Given the description of an element on the screen output the (x, y) to click on. 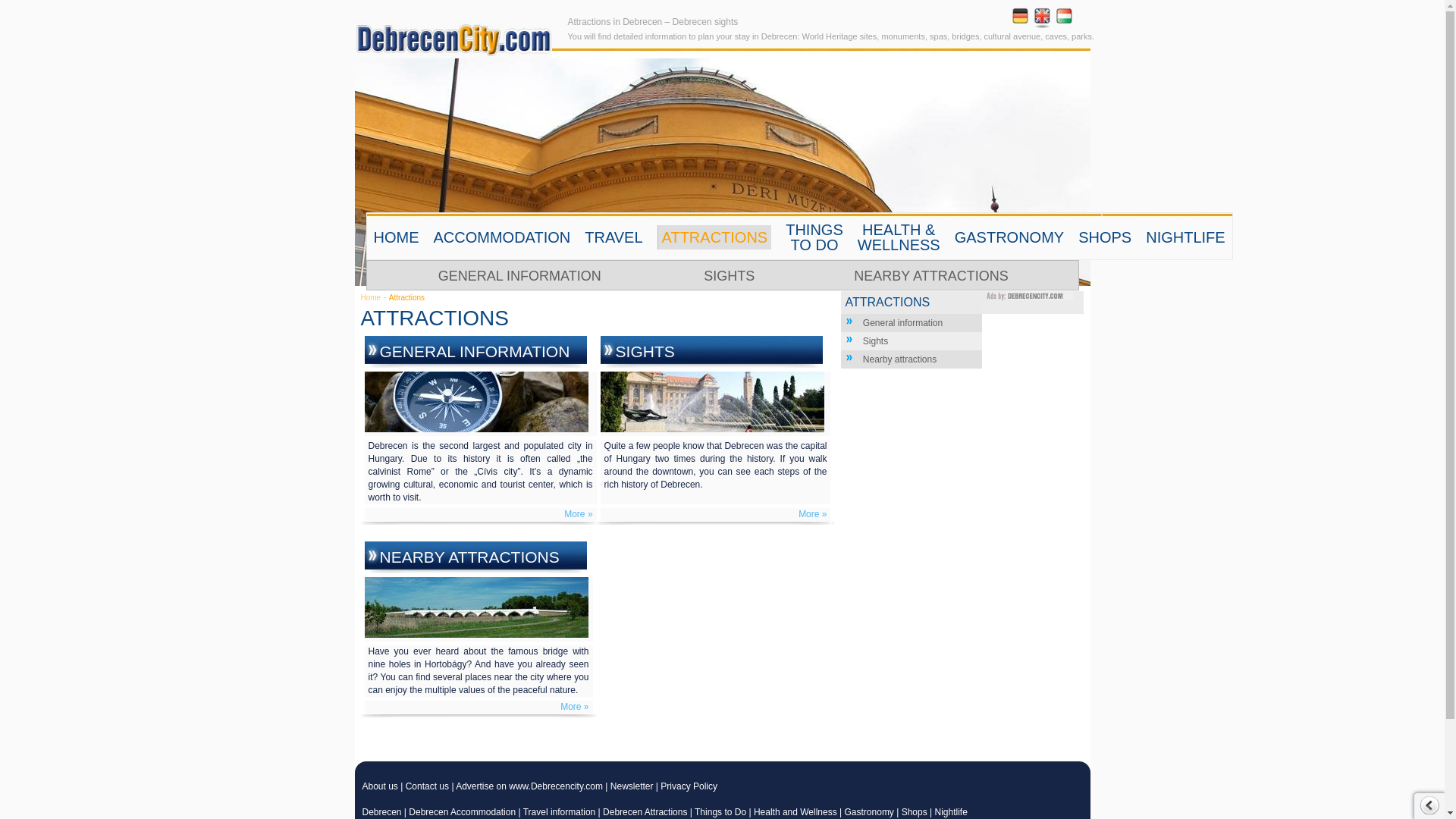
Advertise on www.Debrecencity.com (528, 786)
GENERAL INFORMATION (473, 351)
Attractions in Debrecen (453, 39)
TRAVEL (613, 237)
NEARBY ATTRACTIONS (930, 275)
ATTRACTIONS (714, 237)
Debrecen (381, 811)
SHOPS (1104, 237)
English (1041, 20)
Nearby attractions (899, 358)
